Given the description of an element on the screen output the (x, y) to click on. 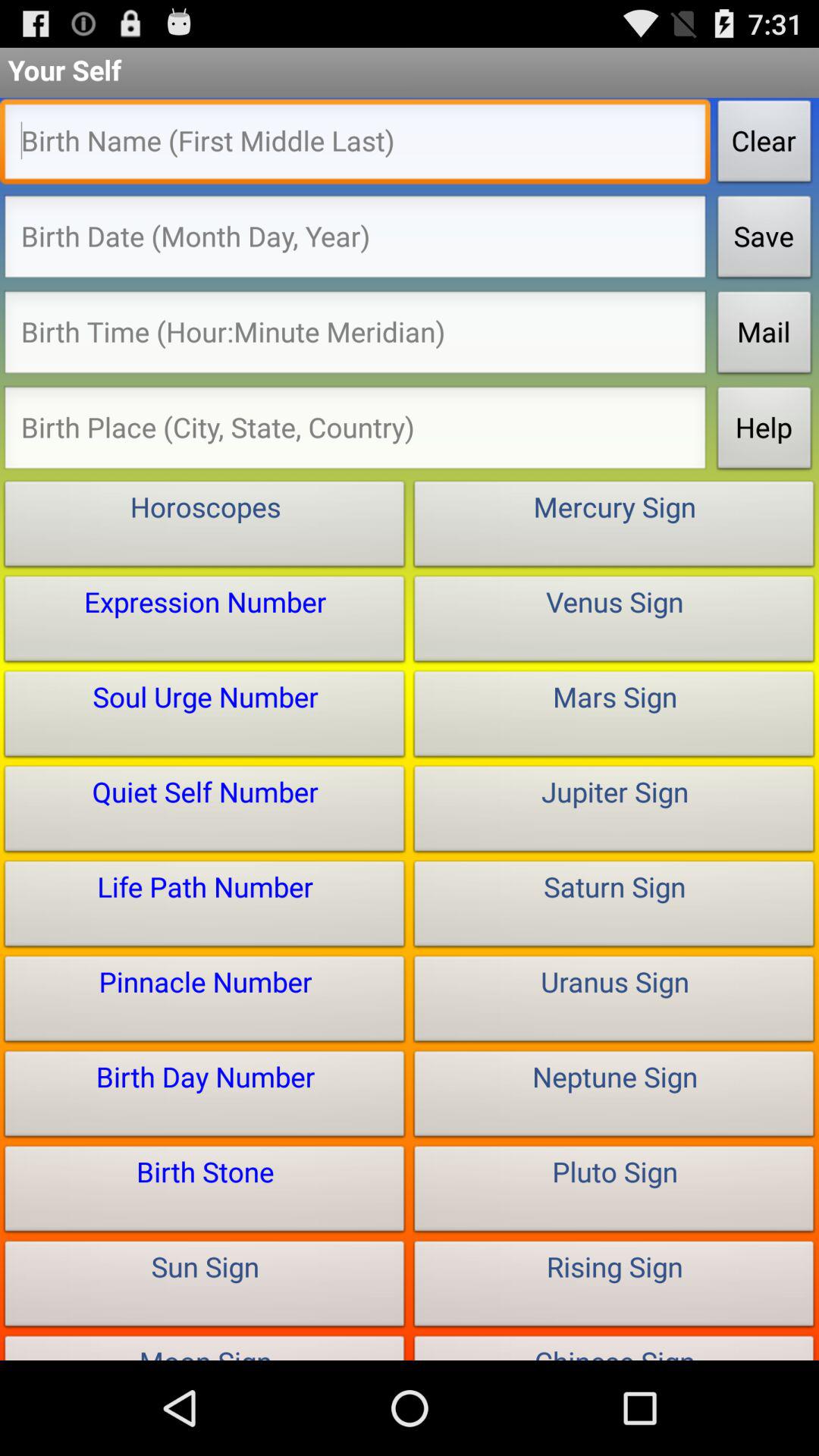
type the birth time (355, 336)
